Given the description of an element on the screen output the (x, y) to click on. 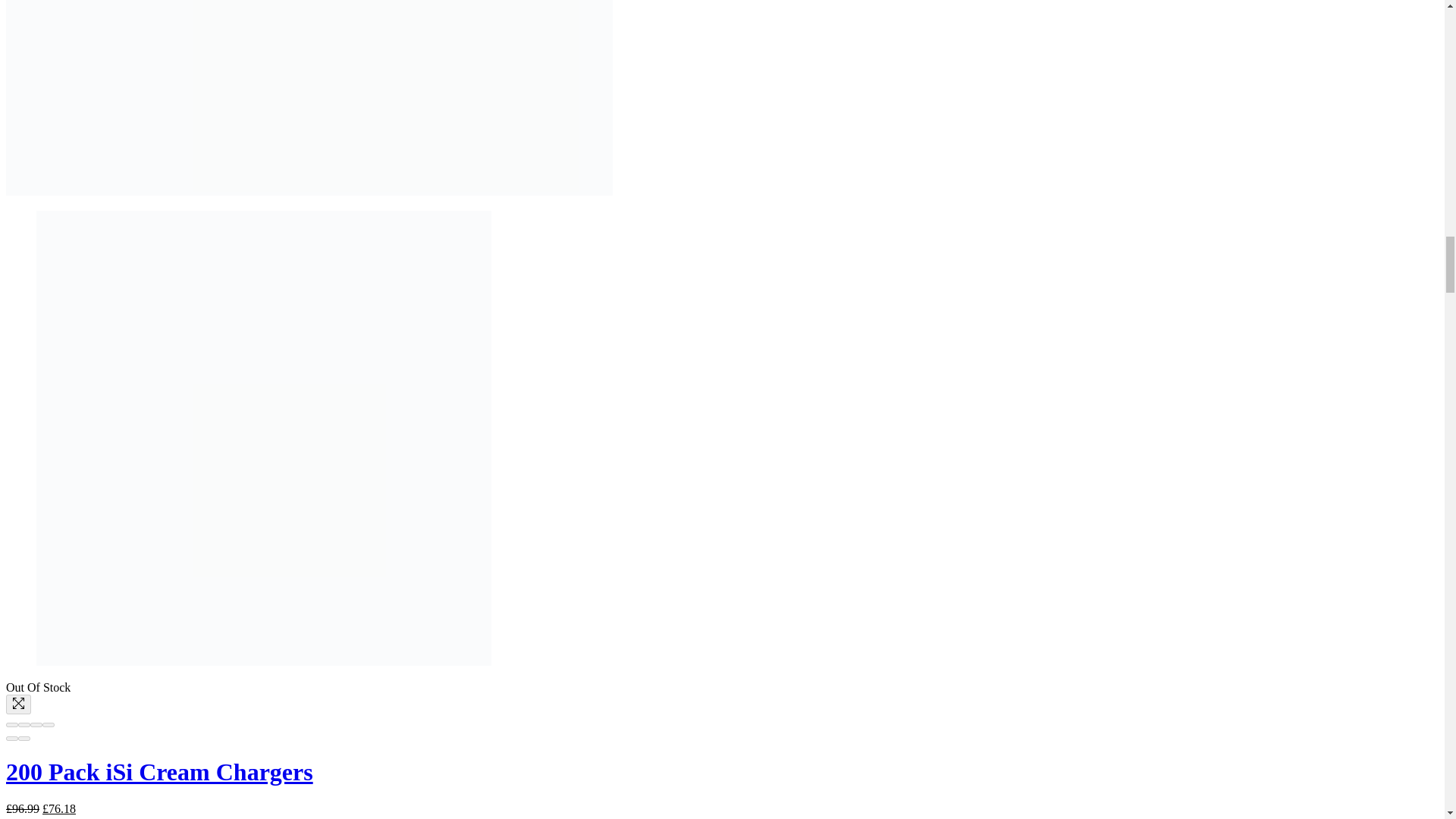
Toggle fullscreen (36, 724)
Share (23, 724)
